Given the description of an element on the screen output the (x, y) to click on. 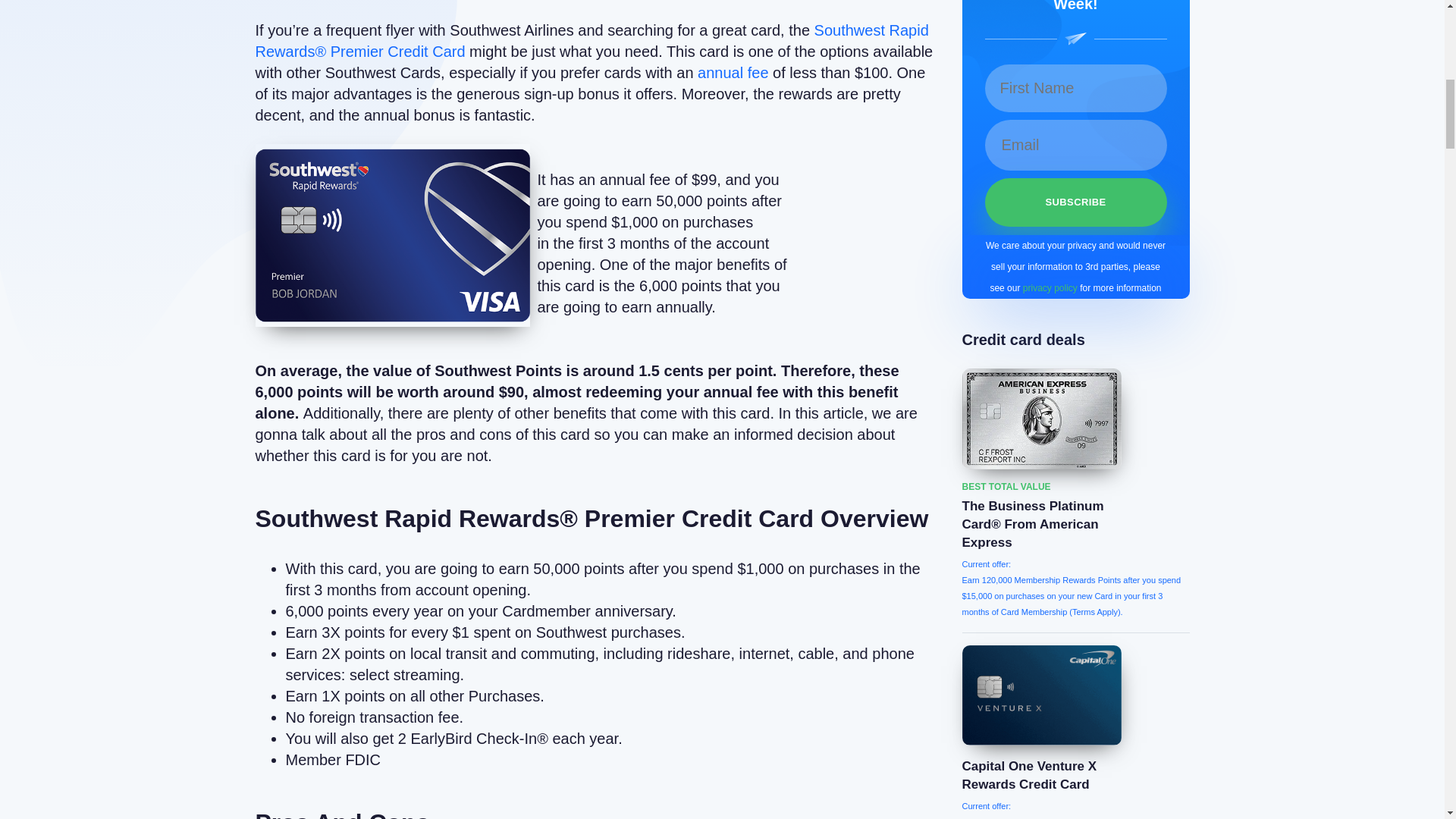
Subscribe (1075, 202)
annual fee (732, 72)
Capital One Venture X Rewards Credit Card 10 (1040, 695)
